Given the description of an element on the screen output the (x, y) to click on. 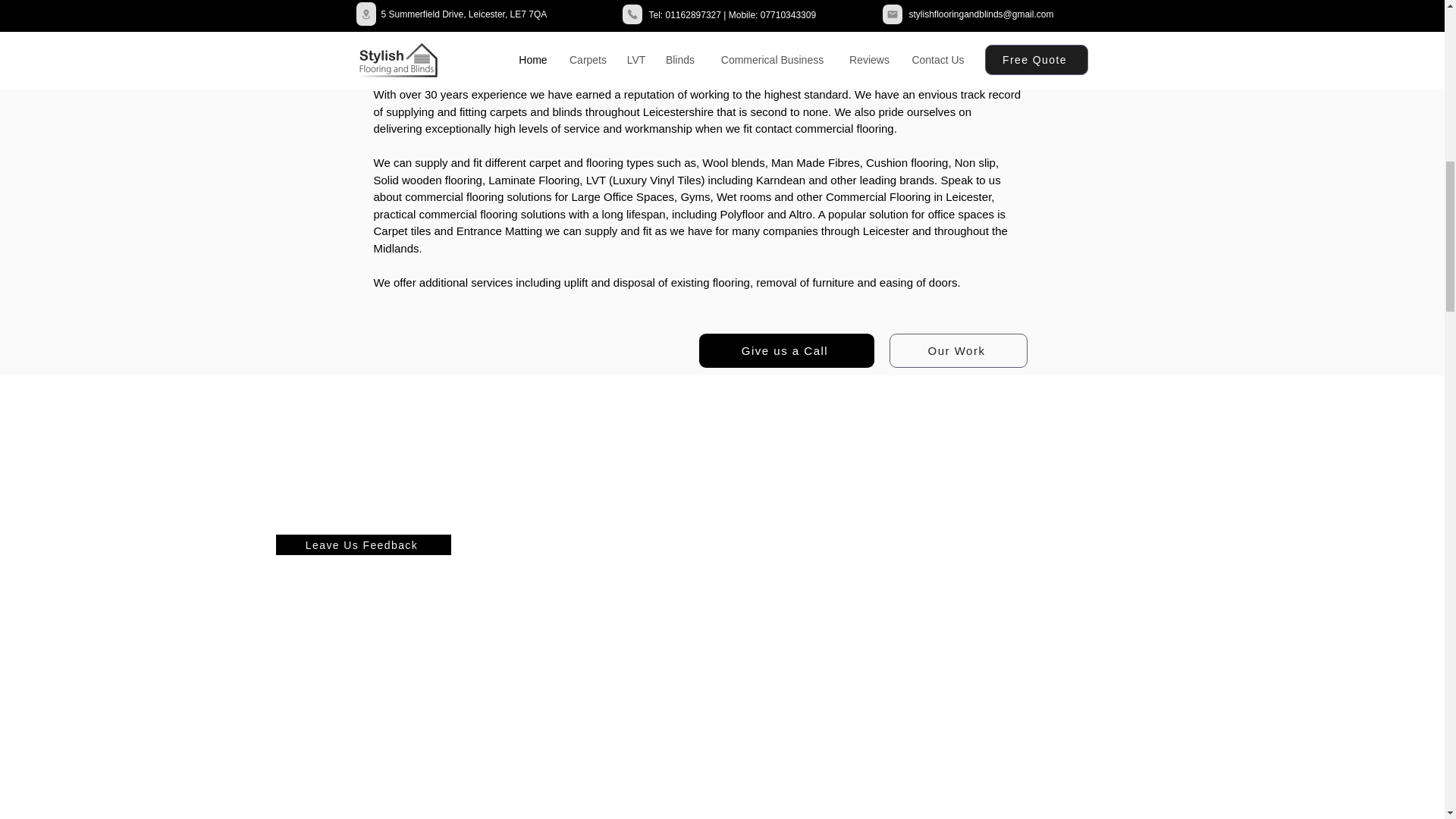
Give us a Call (786, 350)
Leave Us Feedback (363, 544)
Our Work (957, 350)
